Given the description of an element on the screen output the (x, y) to click on. 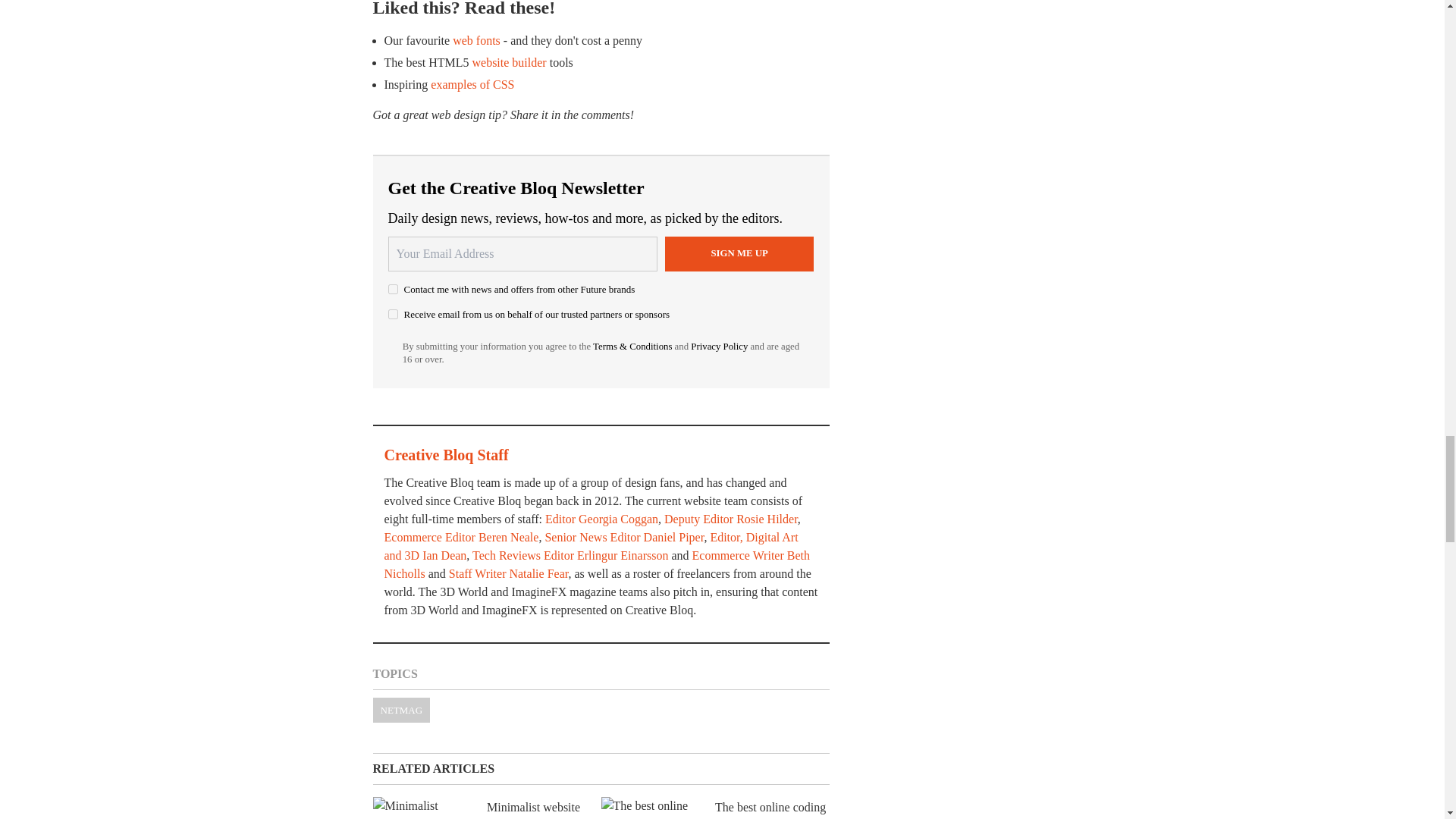
on (392, 314)
on (392, 289)
Sign me up (739, 253)
